Given the description of an element on the screen output the (x, y) to click on. 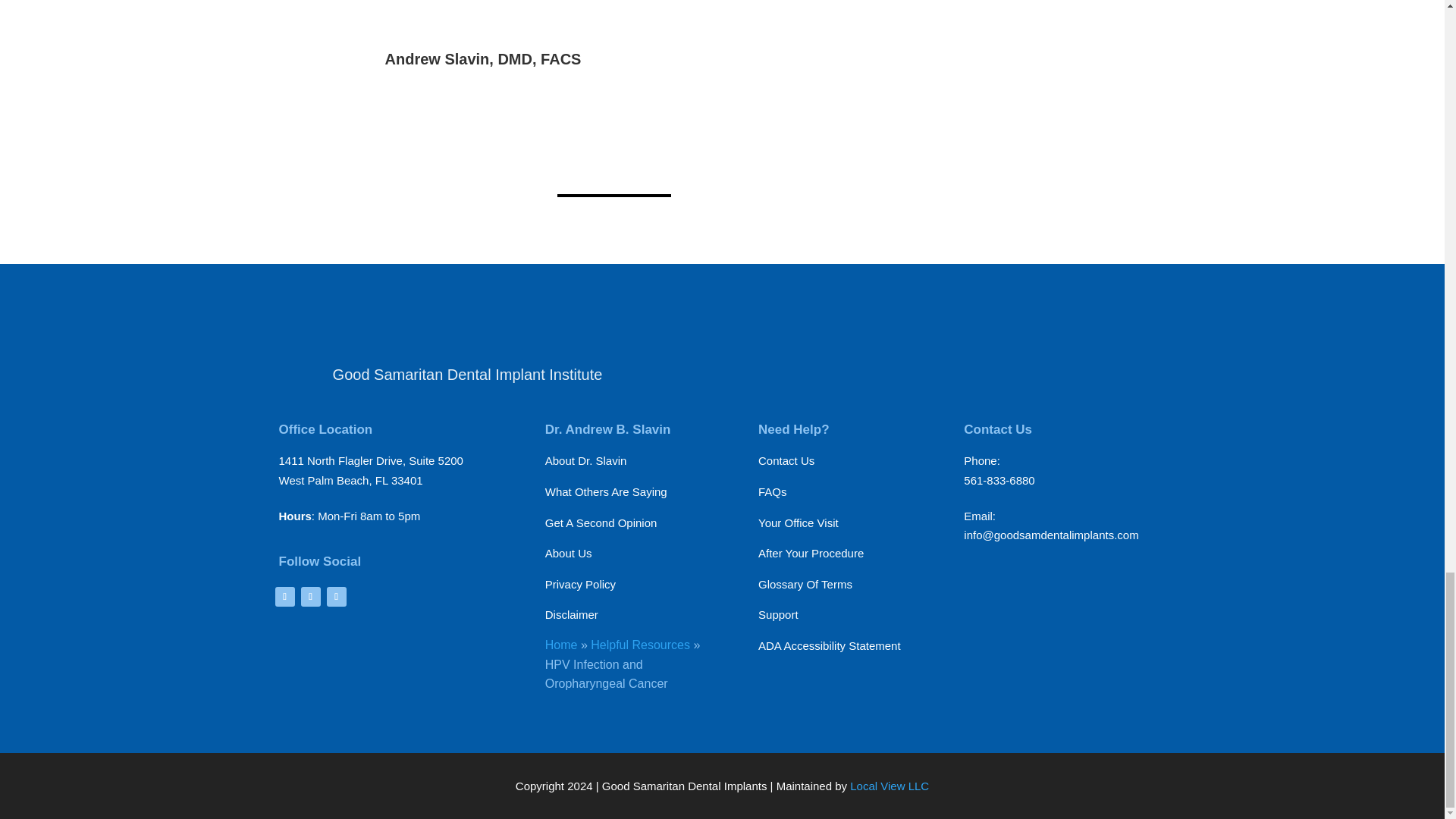
Follow on RSS (336, 596)
Follow on Google (309, 596)
Home (561, 644)
Follow on Facebook (284, 596)
Helpful Resources (640, 644)
